Given the description of an element on the screen output the (x, y) to click on. 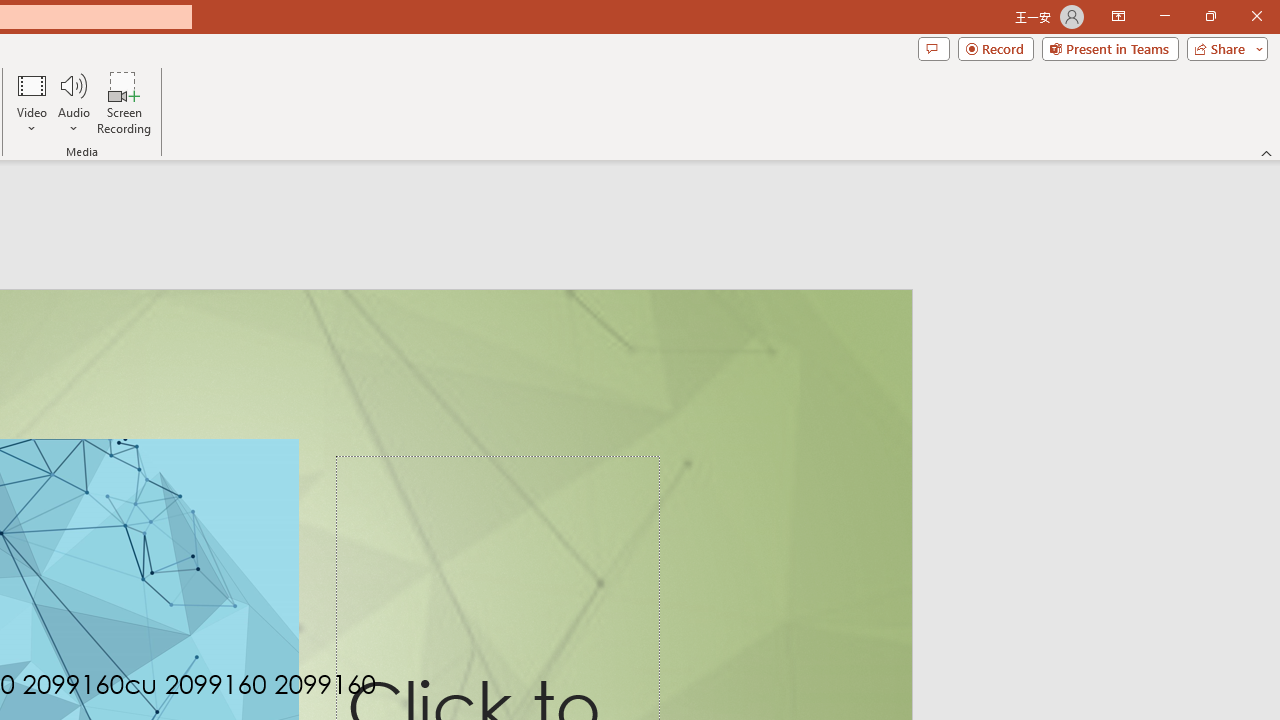
Video (31, 102)
Screen Recording... (123, 102)
Audio (73, 102)
